Given the description of an element on the screen output the (x, y) to click on. 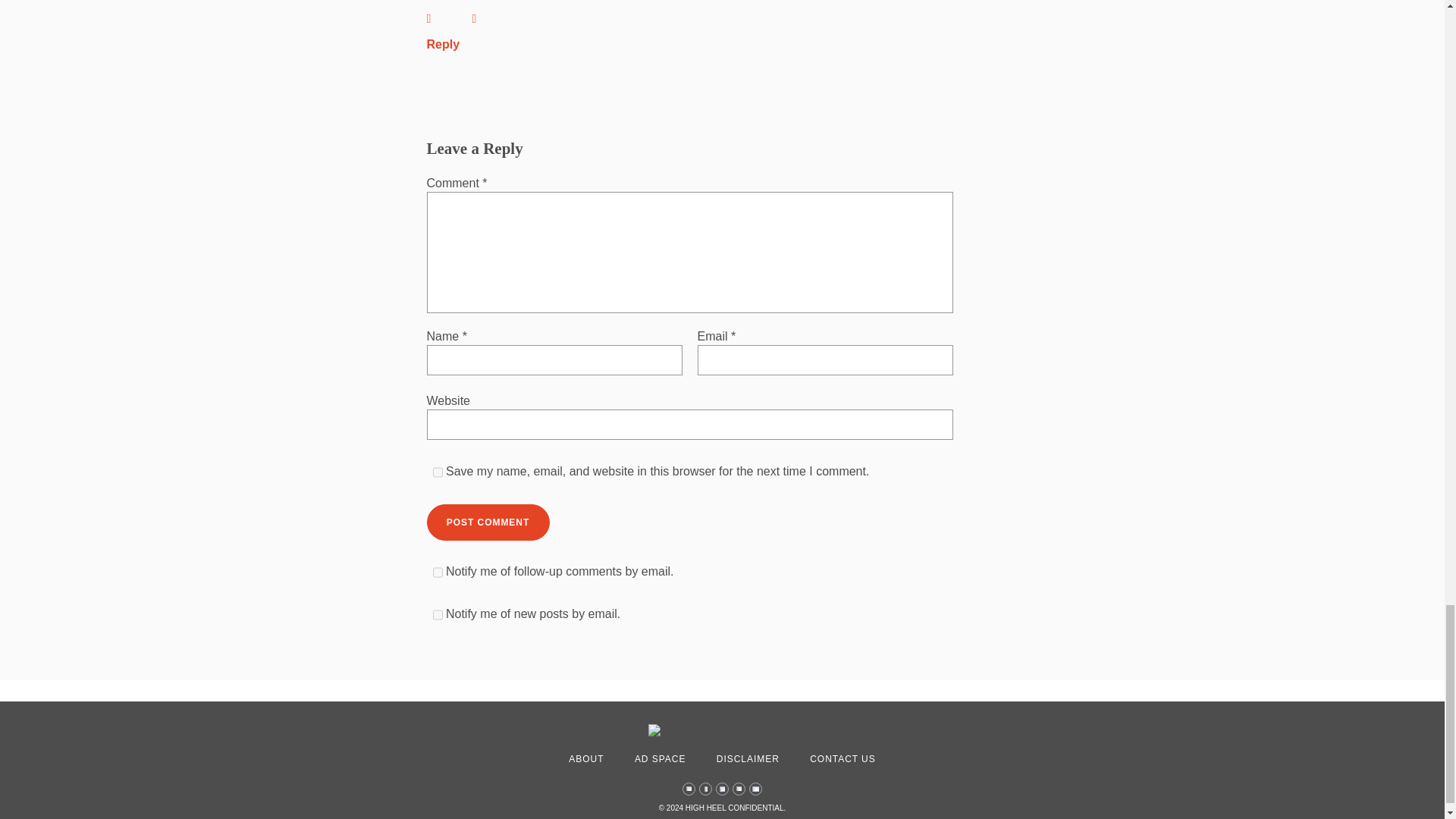
Post Comment (487, 522)
